Given the description of an element on the screen output the (x, y) to click on. 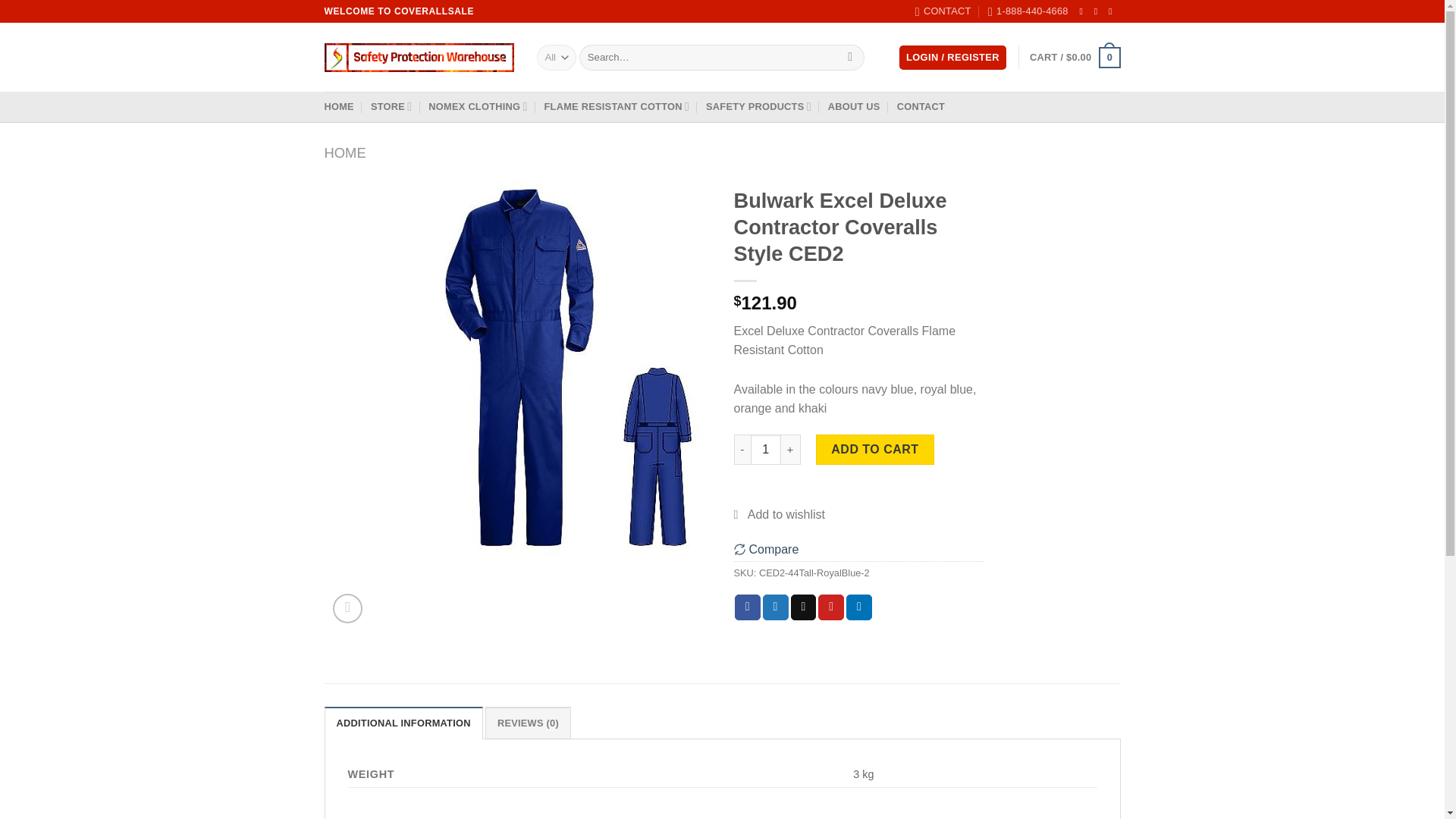
NOMEX CLOTHING (477, 106)
SAFETY PRODUCTS (758, 106)
1-888-440-4668 (1028, 11)
Share on Facebook (747, 606)
Cart (1074, 57)
Zoom (347, 608)
FLAME RESISTANT COTTON (616, 106)
Safety Protection Warehouse Canada (418, 57)
Search (850, 57)
HOME (338, 106)
1 (765, 449)
CONTACT (943, 11)
STORE (391, 106)
Secure express checkout frame (858, 492)
